Given the description of an element on the screen output the (x, y) to click on. 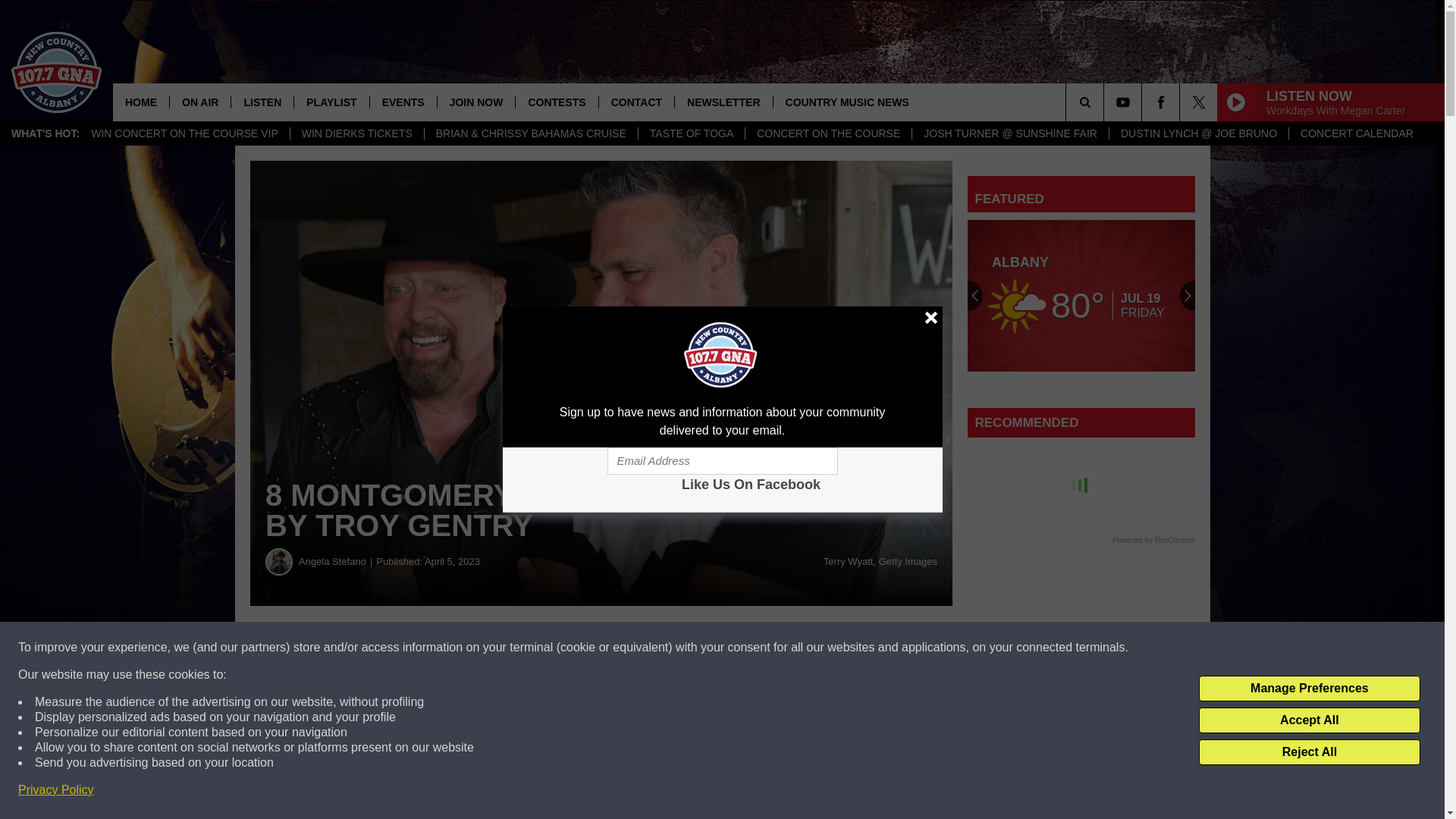
WIN CONCERT ON THE COURSE VIP (184, 133)
Reject All (1309, 751)
Privacy Policy (55, 789)
TWEET (741, 647)
SEARCH (1106, 102)
PLAYLIST (331, 102)
ON AIR (199, 102)
TASTE OF TOGA (690, 133)
Manage Preferences (1309, 688)
SEARCH (1106, 102)
LISTEN (262, 102)
CONCERT ON THE COURSE (827, 133)
SHARE (460, 647)
HOME (140, 102)
Email Address (722, 461)
